Given the description of an element on the screen output the (x, y) to click on. 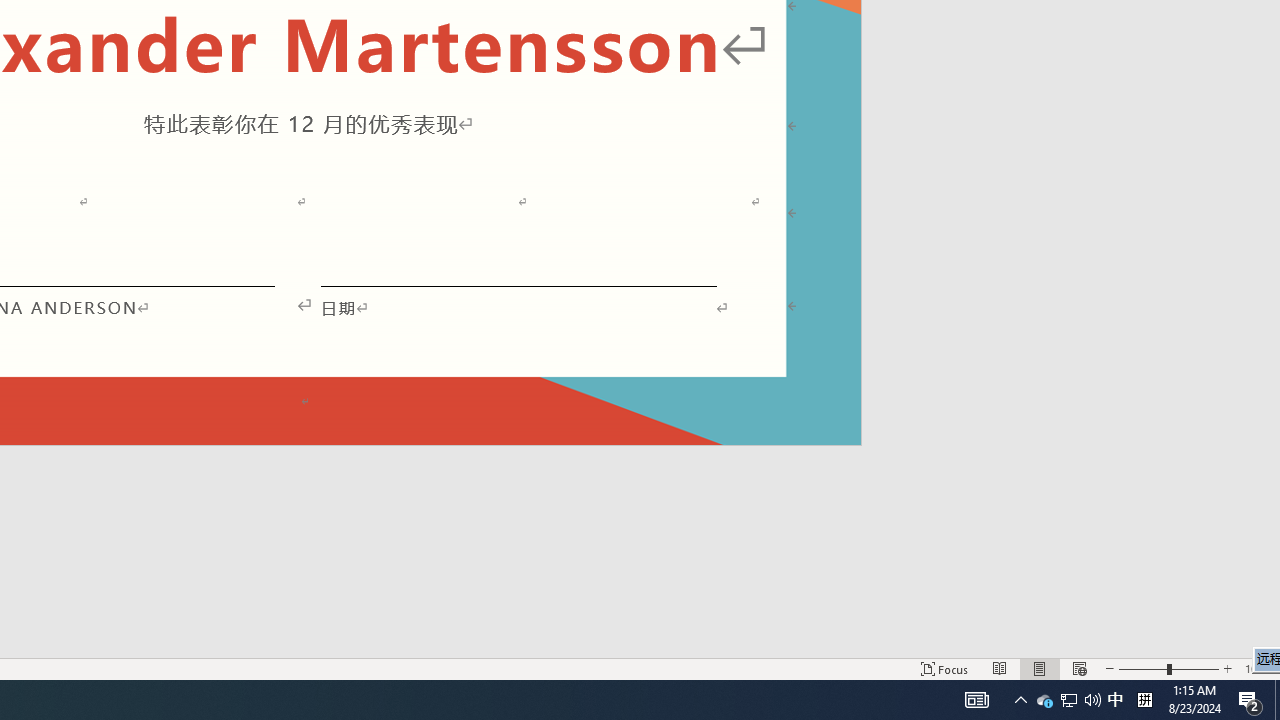
Zoom 100% (1258, 668)
